Given the description of an element on the screen output the (x, y) to click on. 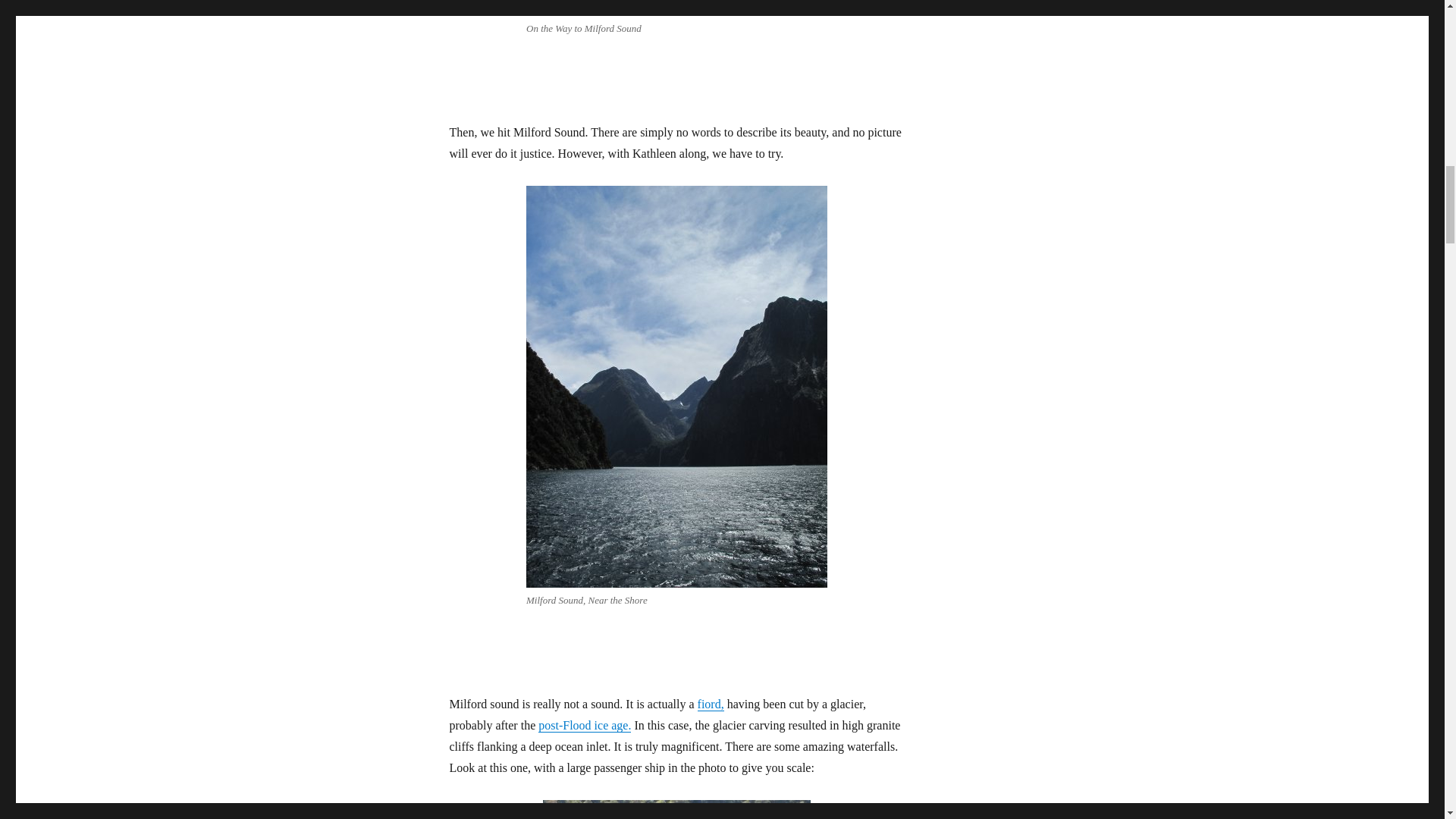
fiord, (710, 703)
post-Flood ice age. (584, 725)
waterfall1 (676, 809)
drive1 (676, 7)
